Given the description of an element on the screen output the (x, y) to click on. 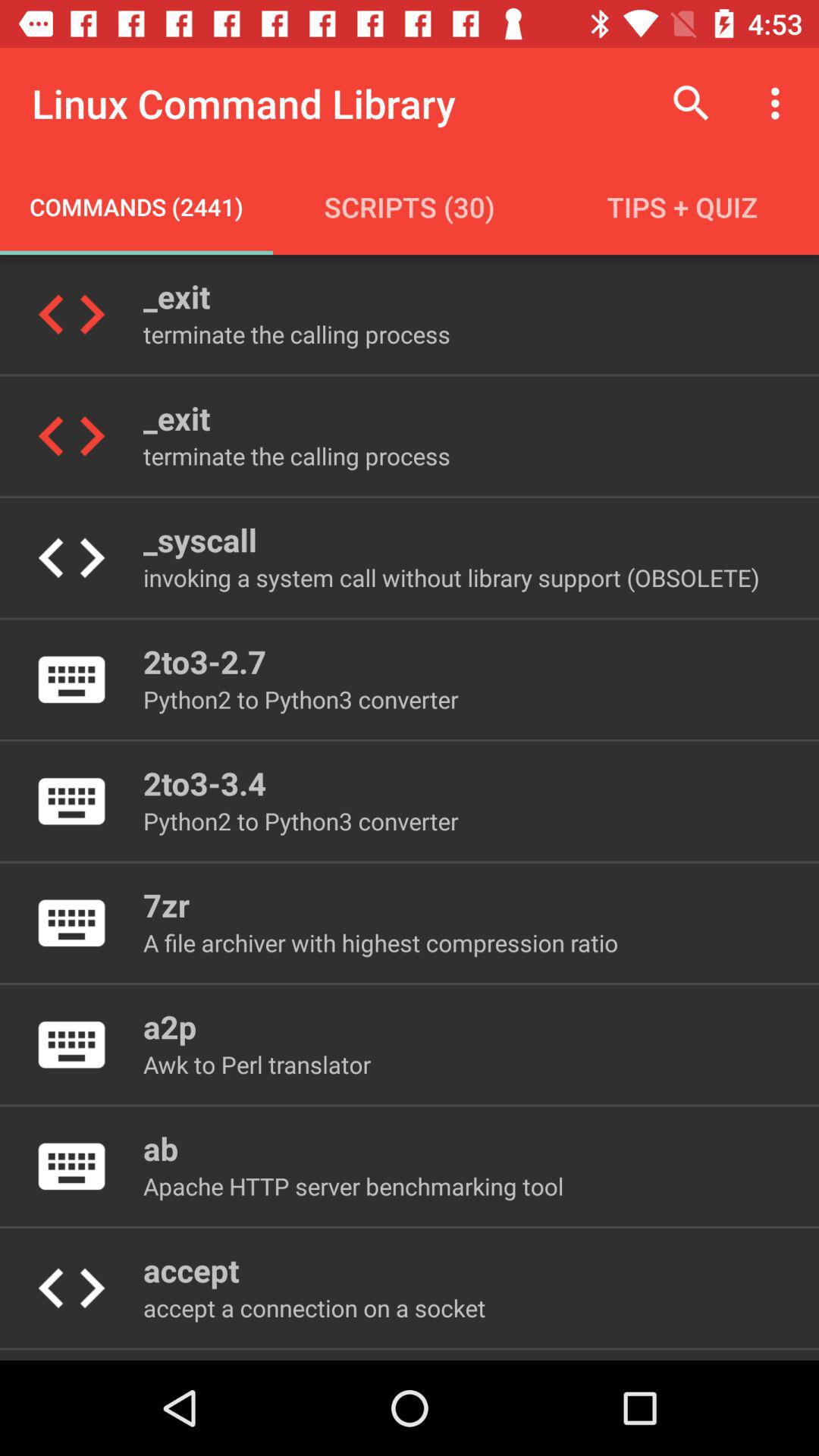
turn off the item above the tips + quiz icon (779, 103)
